Given the description of an element on the screen output the (x, y) to click on. 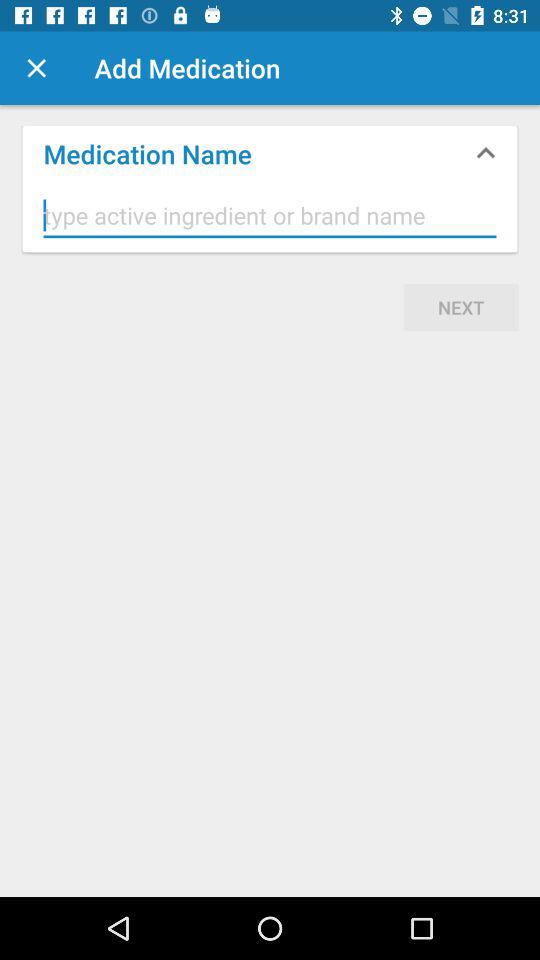
launch item next to the add medication icon (36, 68)
